Given the description of an element on the screen output the (x, y) to click on. 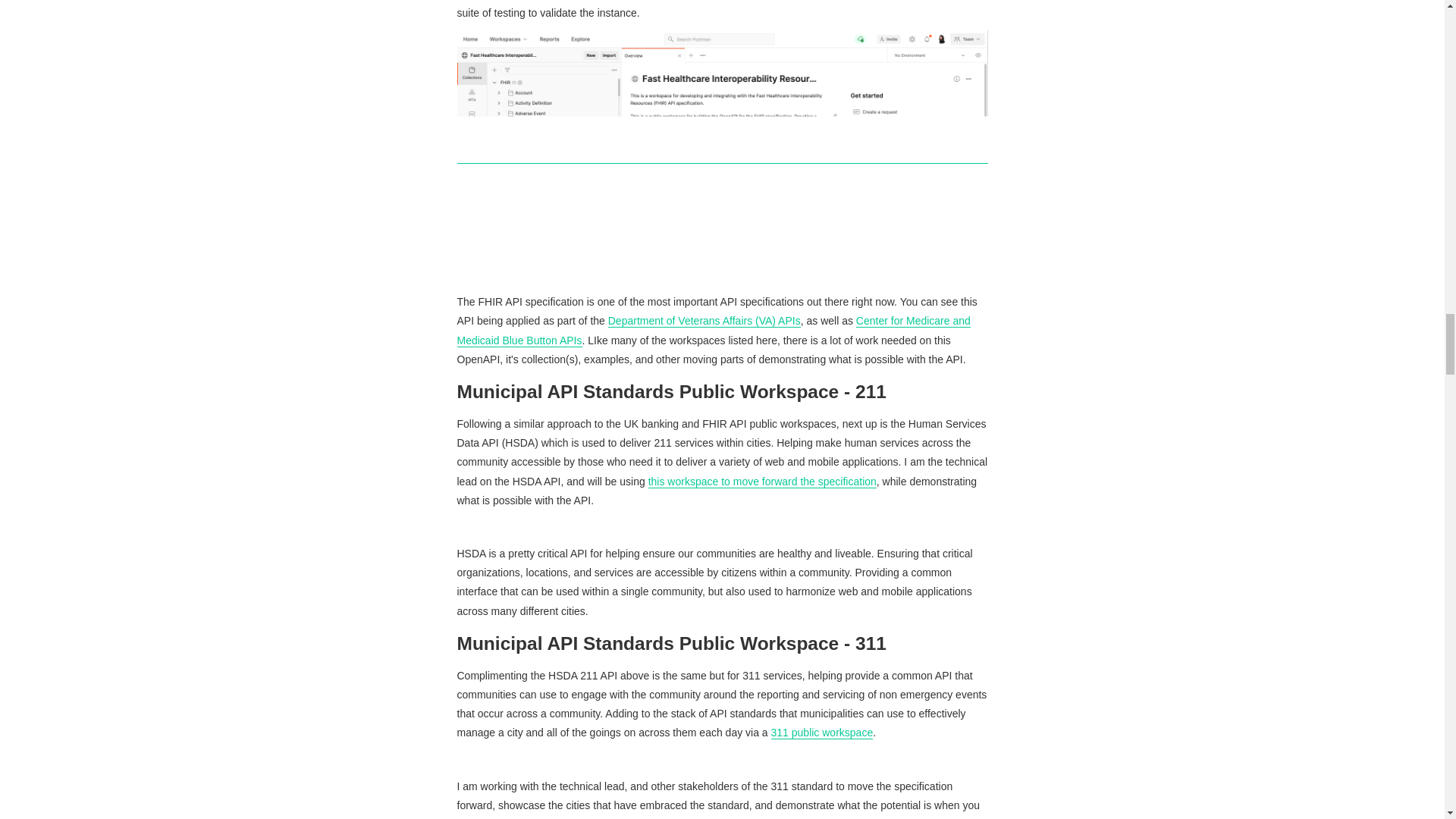
Center for Medicare and Medicaid Blue Button APIs (713, 330)
311 public workspace (822, 732)
this workspace to move forward the specification (761, 481)
